Given the description of an element on the screen output the (x, y) to click on. 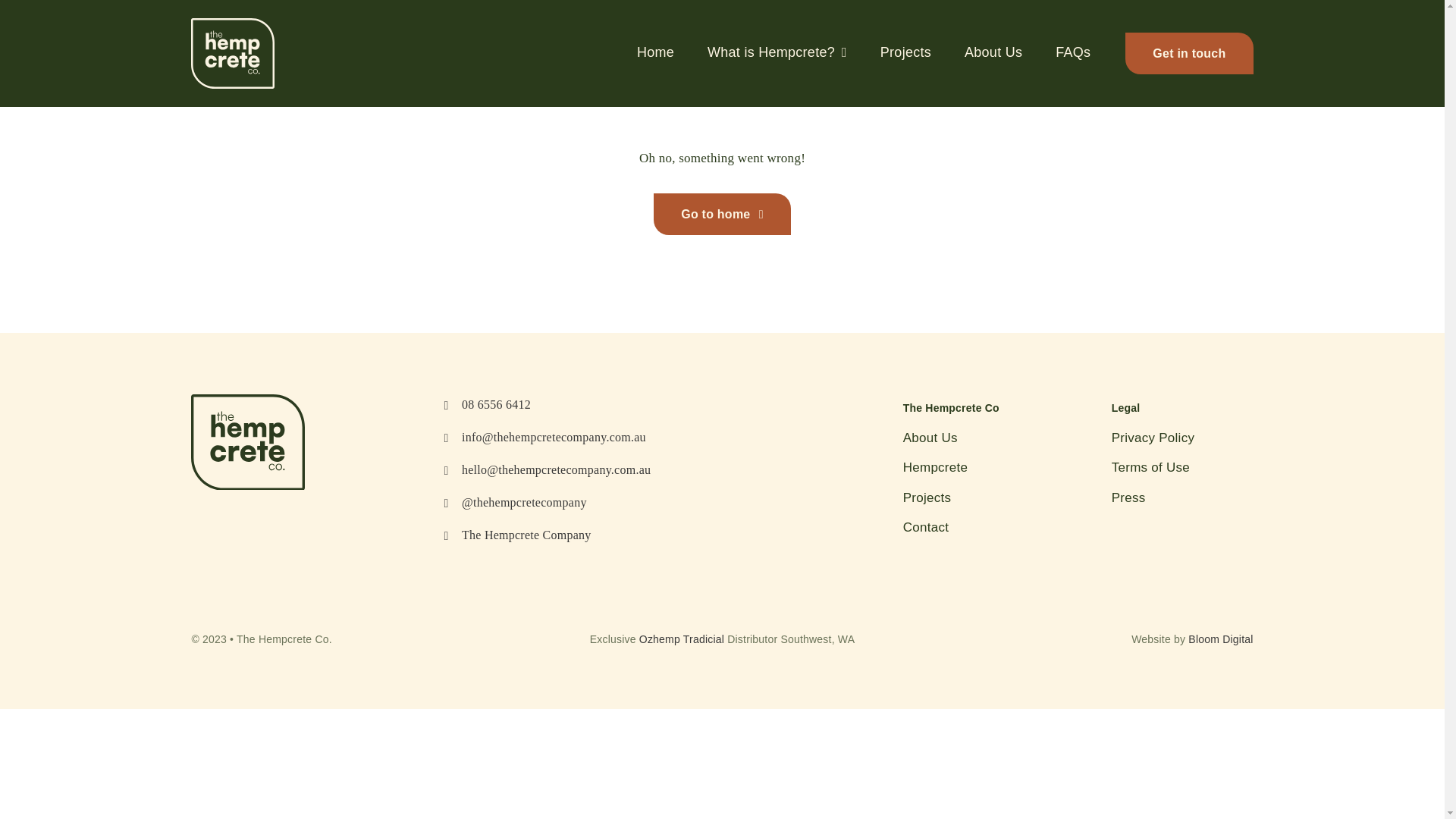
Contact Element type: text (973, 527)
What is Hempcrete? Element type: text (777, 53)
About Us Element type: text (993, 53)
Go to home Element type: text (721, 214)
The Hempcrete Company Element type: text (526, 534)
Projects Element type: text (973, 498)
FAQs Element type: text (1072, 53)
Bloom Digital Element type: text (1220, 639)
Hempcrete Element type: text (973, 468)
The Hempcrete Co. logo Element type: hover (247, 441)
Get in touch Element type: text (1188, 53)
08 6556 6412 Element type: text (495, 404)
Ozhemp Tradicial Element type: text (681, 639)
@thehempcretecompany Element type: text (523, 501)
Terms of Use Element type: text (1182, 468)
Projects Element type: text (905, 53)
Home Element type: text (655, 53)
About Us Element type: text (973, 438)
Press Element type: text (1182, 498)
info@thehempcretecompany.com.au Element type: text (553, 436)
Privacy Policy Element type: text (1182, 438)
hello@thehempcretecompany.com.au Element type: text (555, 469)
